Given the description of an element on the screen output the (x, y) to click on. 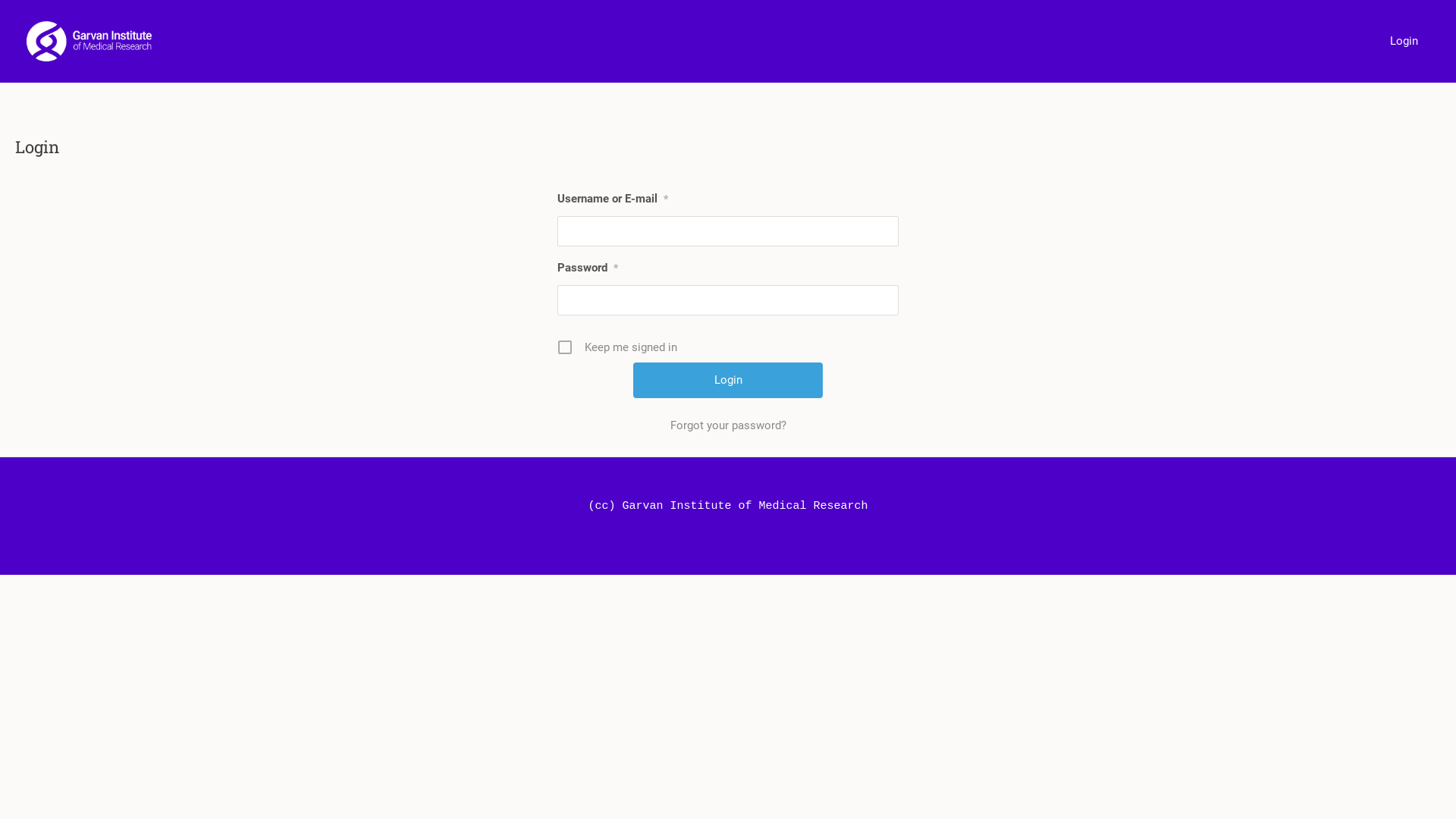
Login Element type: text (1403, 40)
Forgot your password? Element type: text (727, 425)
Login Element type: text (727, 380)
